Given the description of an element on the screen output the (x, y) to click on. 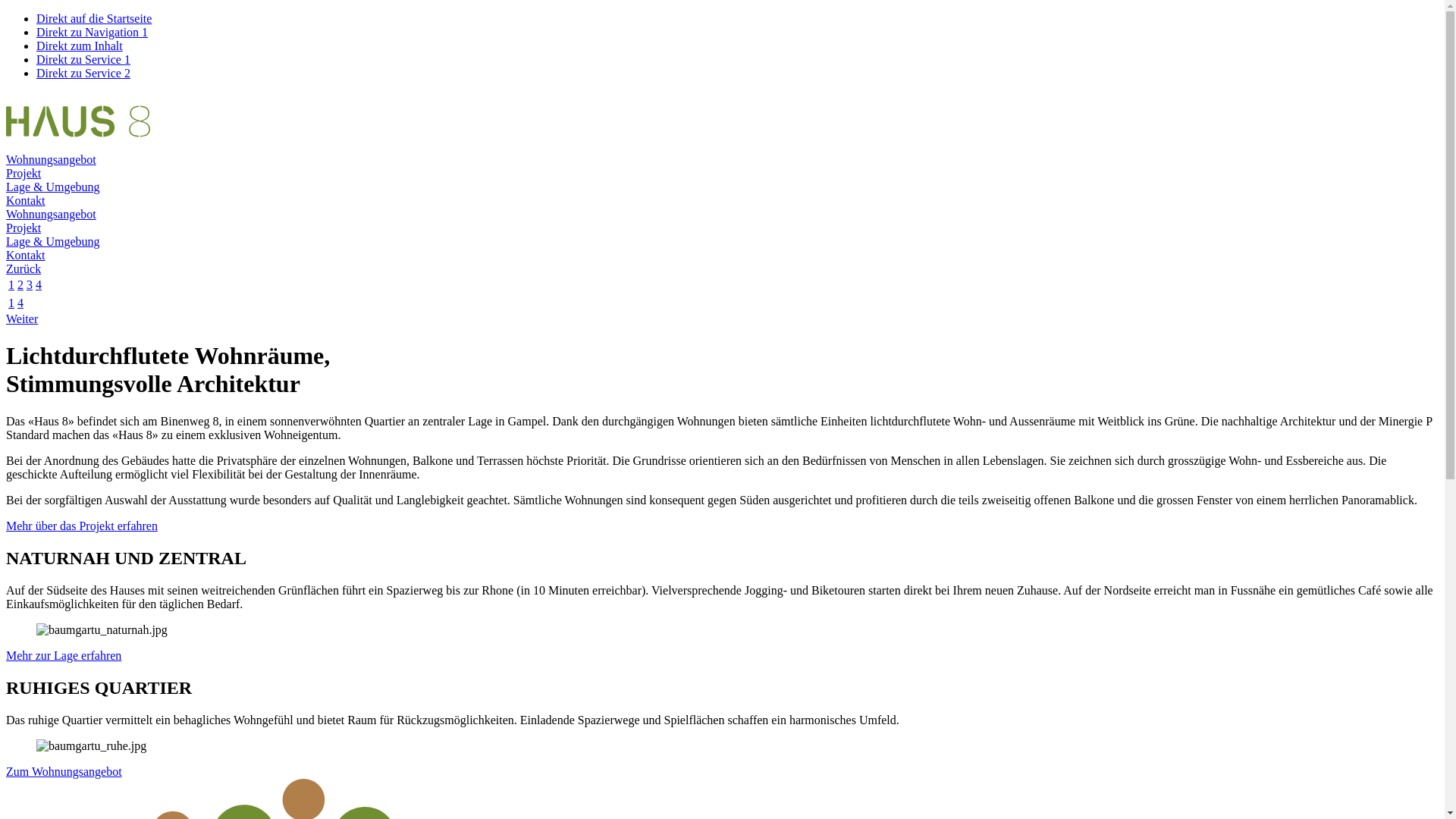
Direkt zu Service 1 Element type: text (83, 59)
2 Element type: text (20, 284)
Wohnungsangebot Element type: text (51, 159)
Direkt zum Inhalt Element type: text (79, 45)
baumgartu_naturnah.jpg Element type: hover (101, 630)
Weiter Element type: text (21, 318)
Mehr zur Lage erfahren Element type: text (63, 655)
Direkt auf die Startseite Element type: text (93, 18)
Kontakt Element type: text (25, 200)
3 Element type: text (29, 284)
Projekt Element type: text (23, 172)
4 Element type: text (20, 302)
Lage & Umgebung Element type: text (53, 241)
4 Element type: text (38, 284)
Projekt Element type: text (23, 227)
baumgartu_ruhe.jpg Element type: hover (91, 745)
1 Element type: text (11, 284)
1 Element type: text (11, 302)
Direkt zu Navigation 1 Element type: text (91, 31)
Direkt zu Service 2 Element type: text (83, 72)
haus8 Element type: hover (78, 145)
Lage & Umgebung Element type: text (53, 186)
Wohnungsangebot Element type: text (51, 213)
Zum Wohnungsangebot Element type: text (64, 770)
Kontakt Element type: text (25, 254)
